Given the description of an element on the screen output the (x, y) to click on. 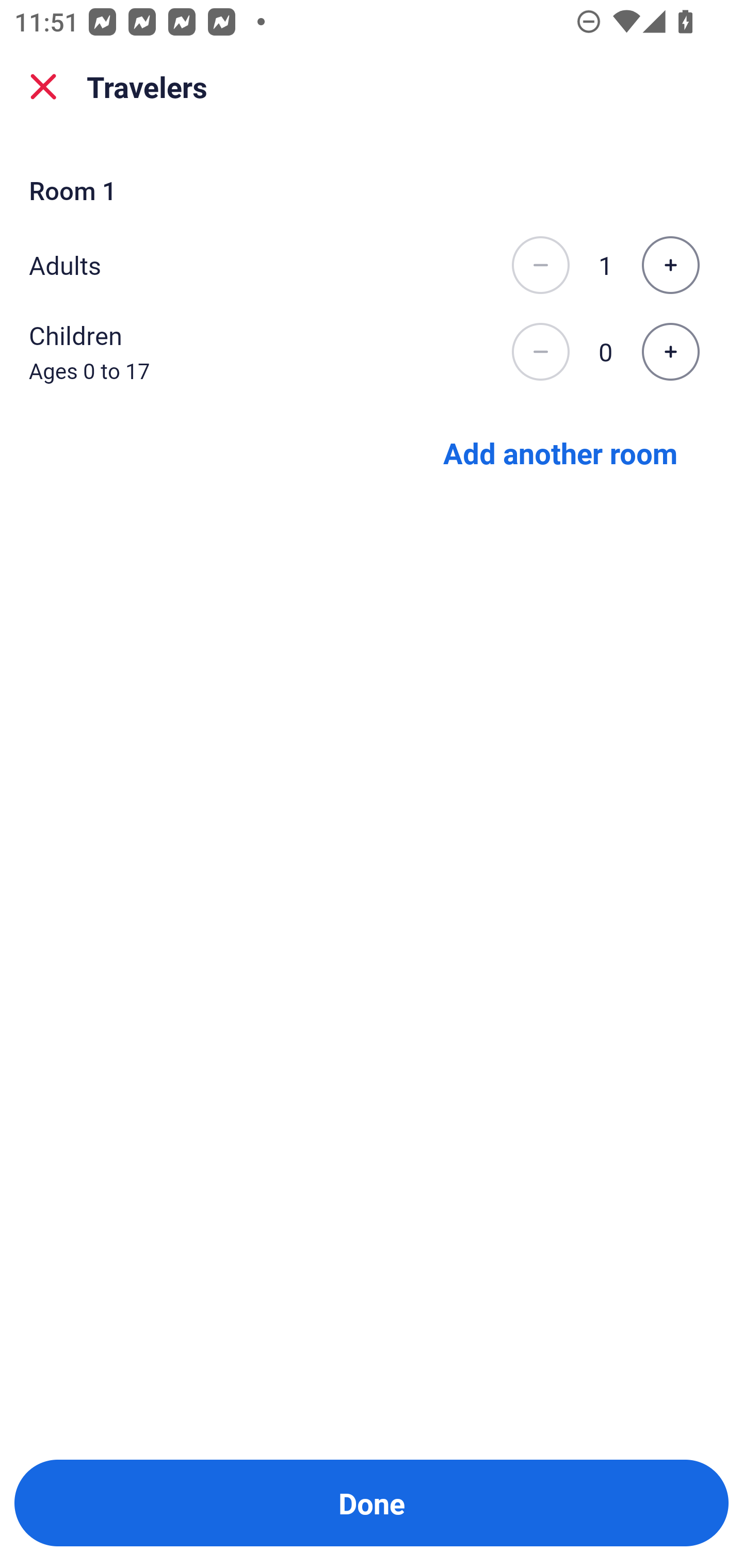
close (43, 86)
Decrease the number of adults (540, 264)
Increase the number of adults (670, 264)
Decrease the number of children (540, 351)
Increase the number of children (670, 351)
Add another room (560, 452)
Done (371, 1502)
